Given the description of an element on the screen output the (x, y) to click on. 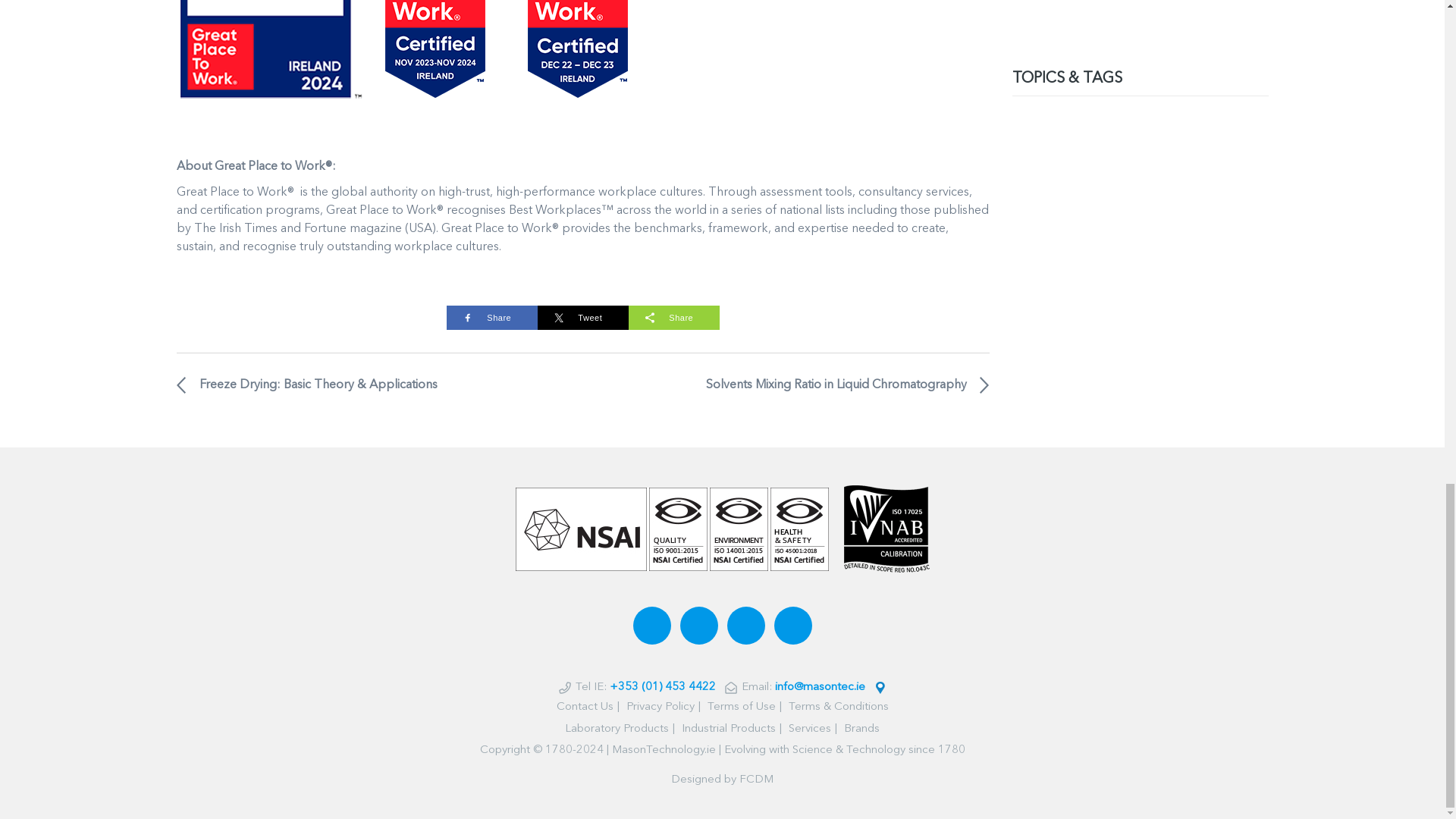
Great-Place-to-Work-Certifications-for-Mason-Technology (403, 65)
